Given the description of an element on the screen output the (x, y) to click on. 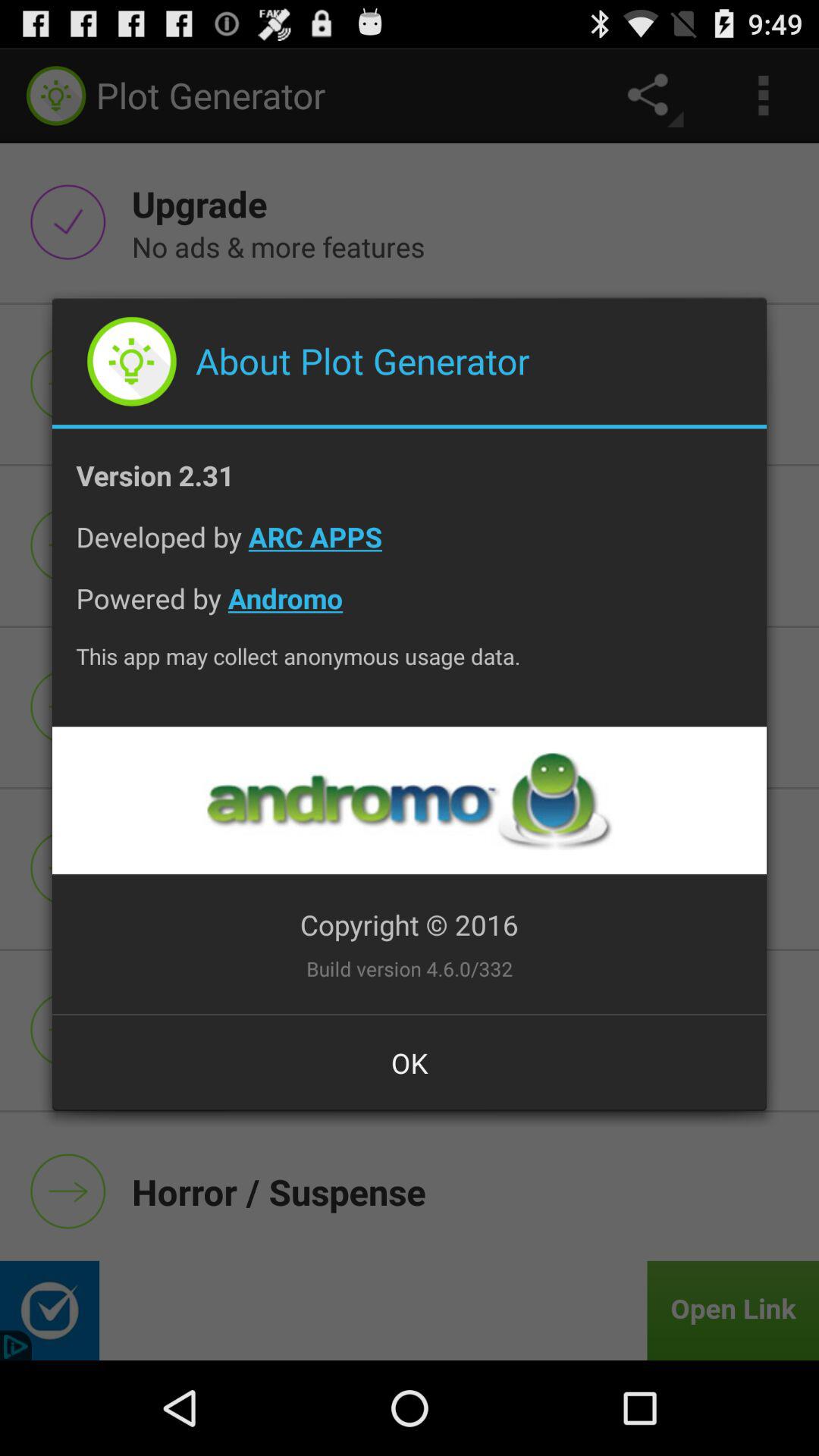
press the icon above powered by andromo item (409, 548)
